Given the description of an element on the screen output the (x, y) to click on. 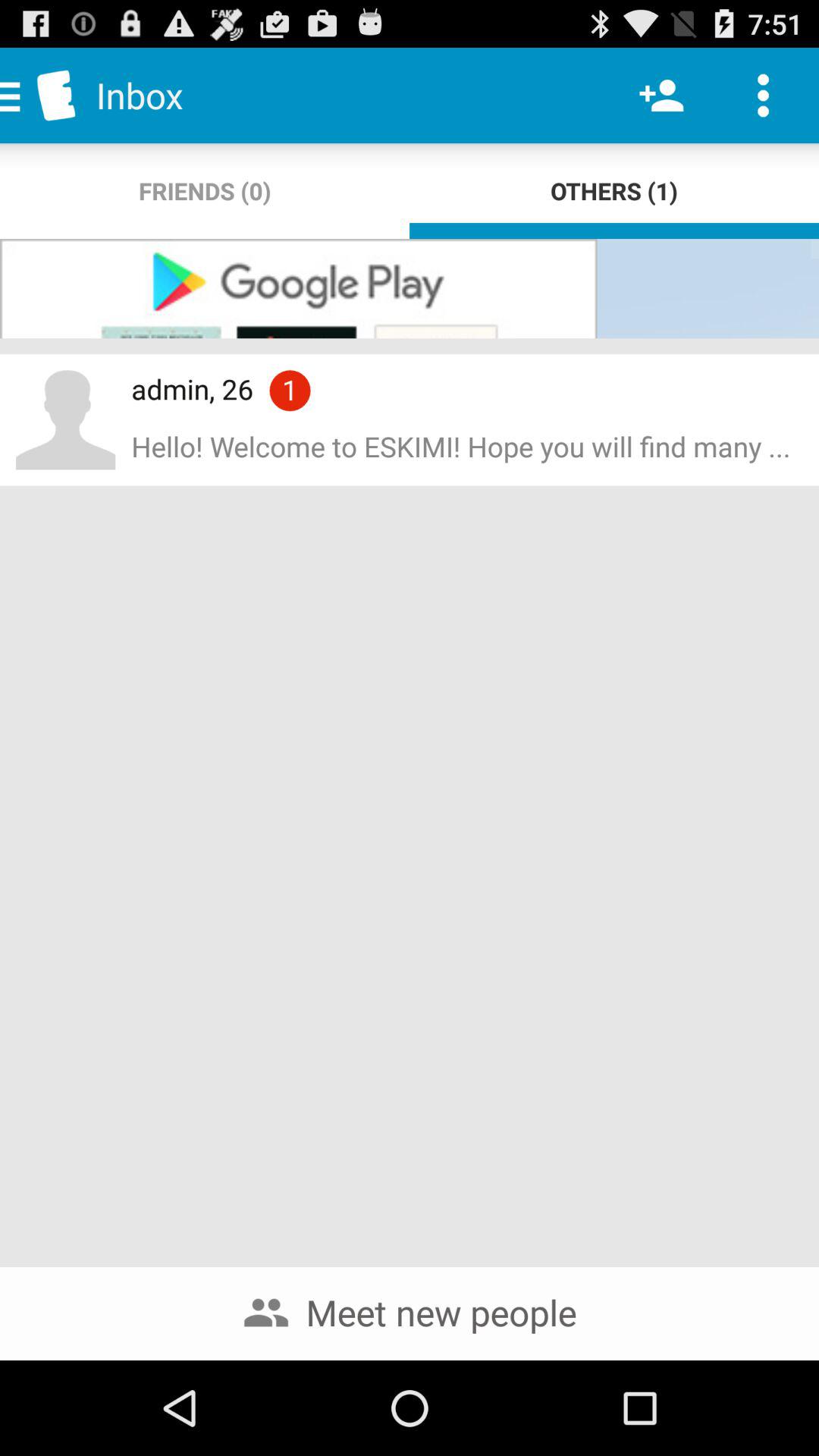
advertisement (409, 288)
